Given the description of an element on the screen output the (x, y) to click on. 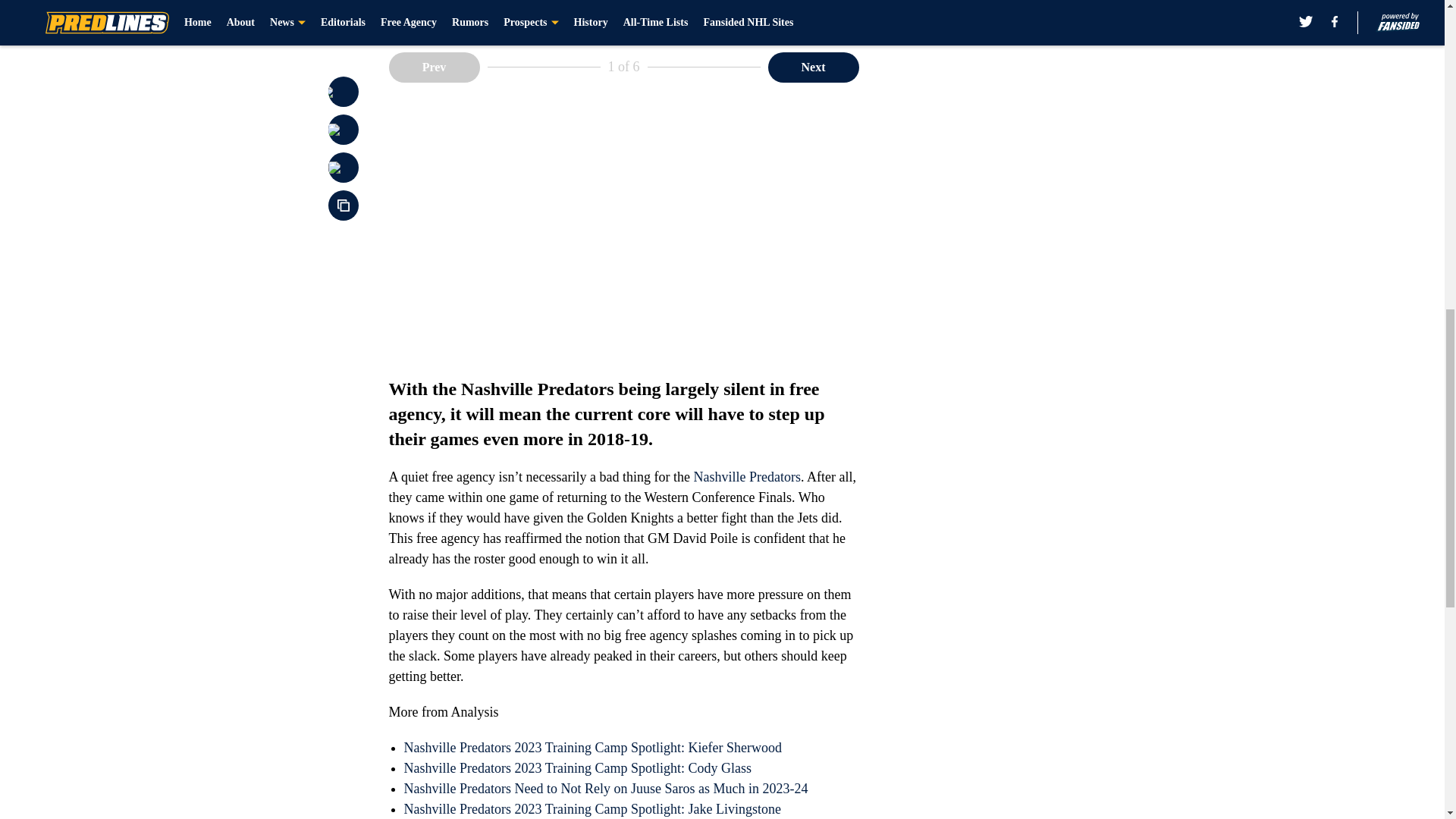
Nashville Predators 2023 Training Camp Spotlight: Cody Glass (577, 767)
Next (813, 66)
Nashville Predators (747, 476)
Prev (433, 66)
